Given the description of an element on the screen output the (x, y) to click on. 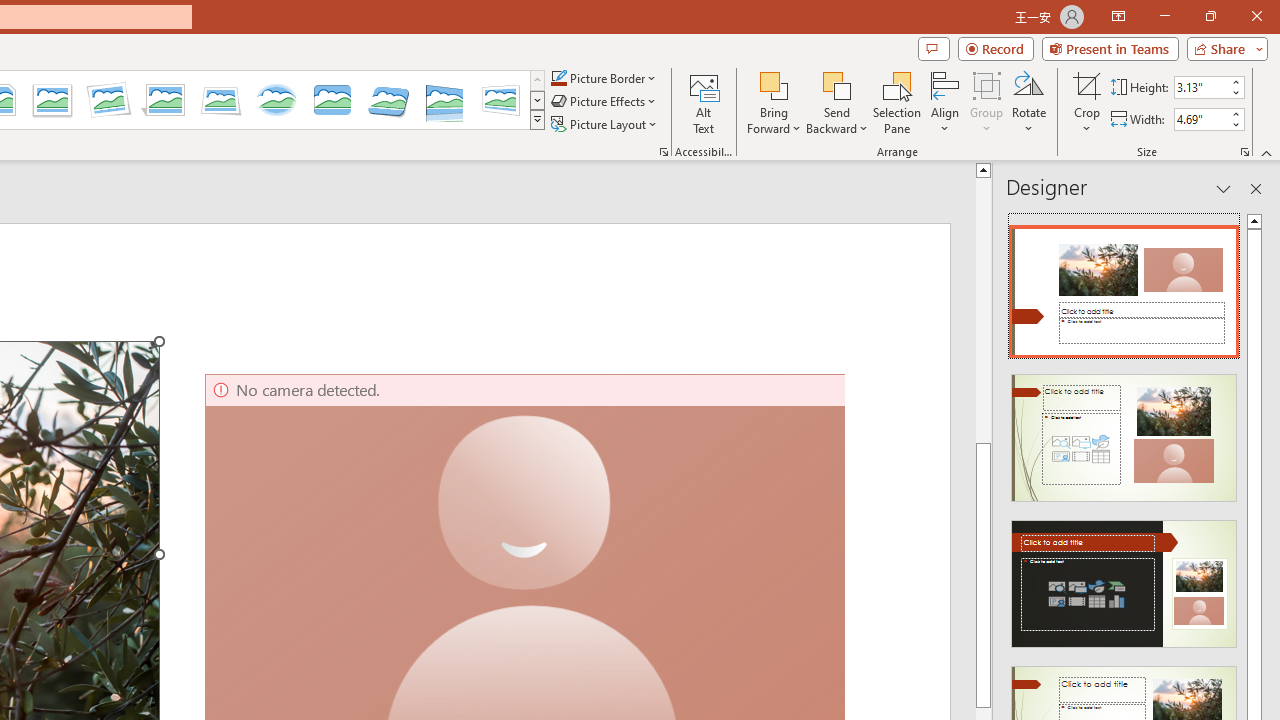
Send Backward (836, 102)
Picture... (663, 151)
Crop (1087, 84)
Selection Pane... (897, 102)
Group (987, 102)
Bring Forward (773, 84)
Moderate Frame, White (52, 100)
Size and Position... (1244, 151)
